Given the description of an element on the screen output the (x, y) to click on. 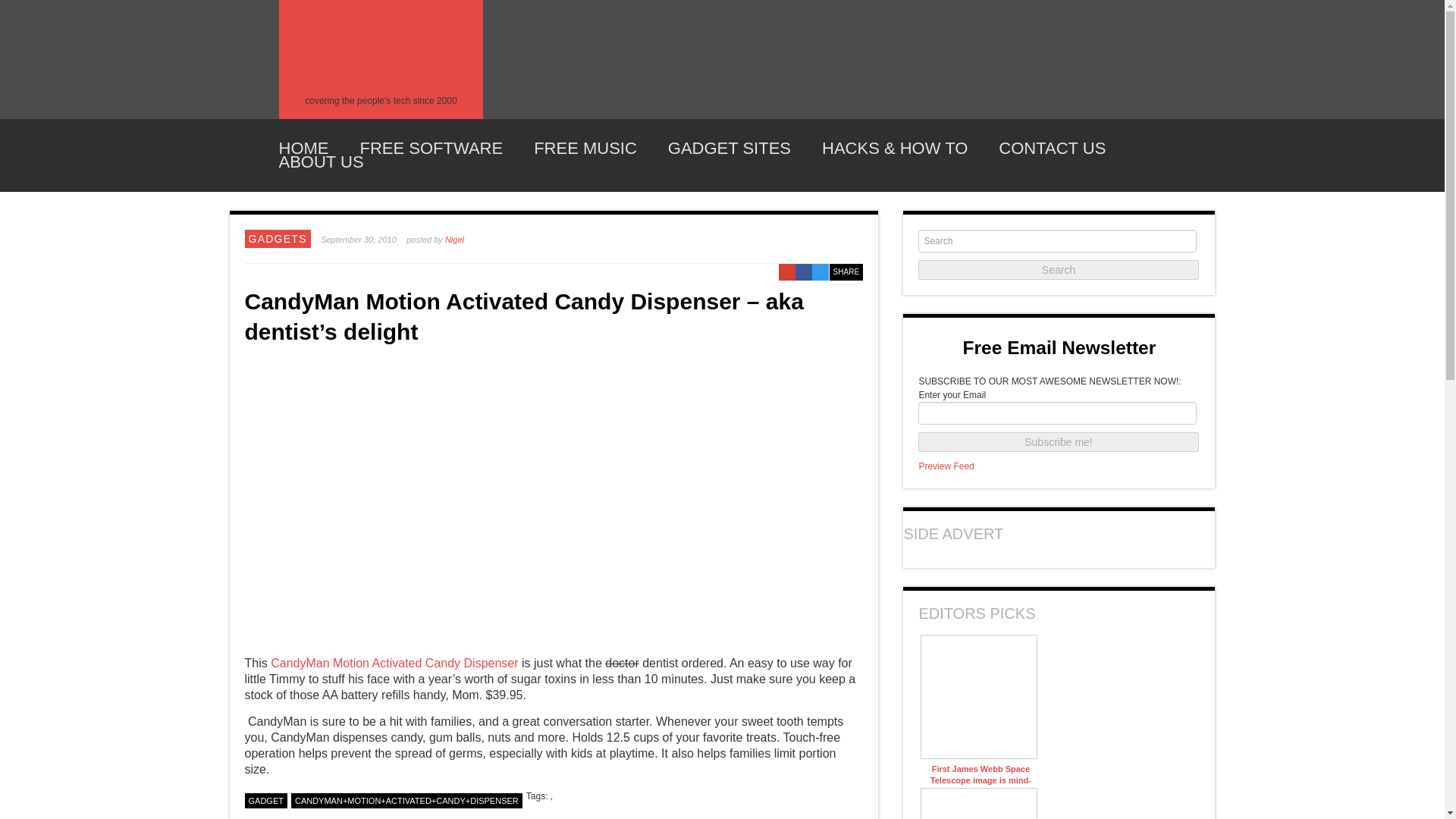
FREE SOFTWARE (430, 148)
ABOUT US (321, 161)
Preview Feed (946, 466)
Subscribe me! (1058, 442)
GADGET SITES (729, 148)
Subscribe me! (1058, 442)
GADGETS (277, 238)
HOME (304, 148)
Search (1058, 270)
GADGET (265, 800)
CandyMan Motion Activated Candy Dispenser (394, 662)
SHARE (846, 271)
FREE MUSIC (585, 148)
CONTACT US (1051, 148)
Posts by Nigel (454, 239)
